Given the description of an element on the screen output the (x, y) to click on. 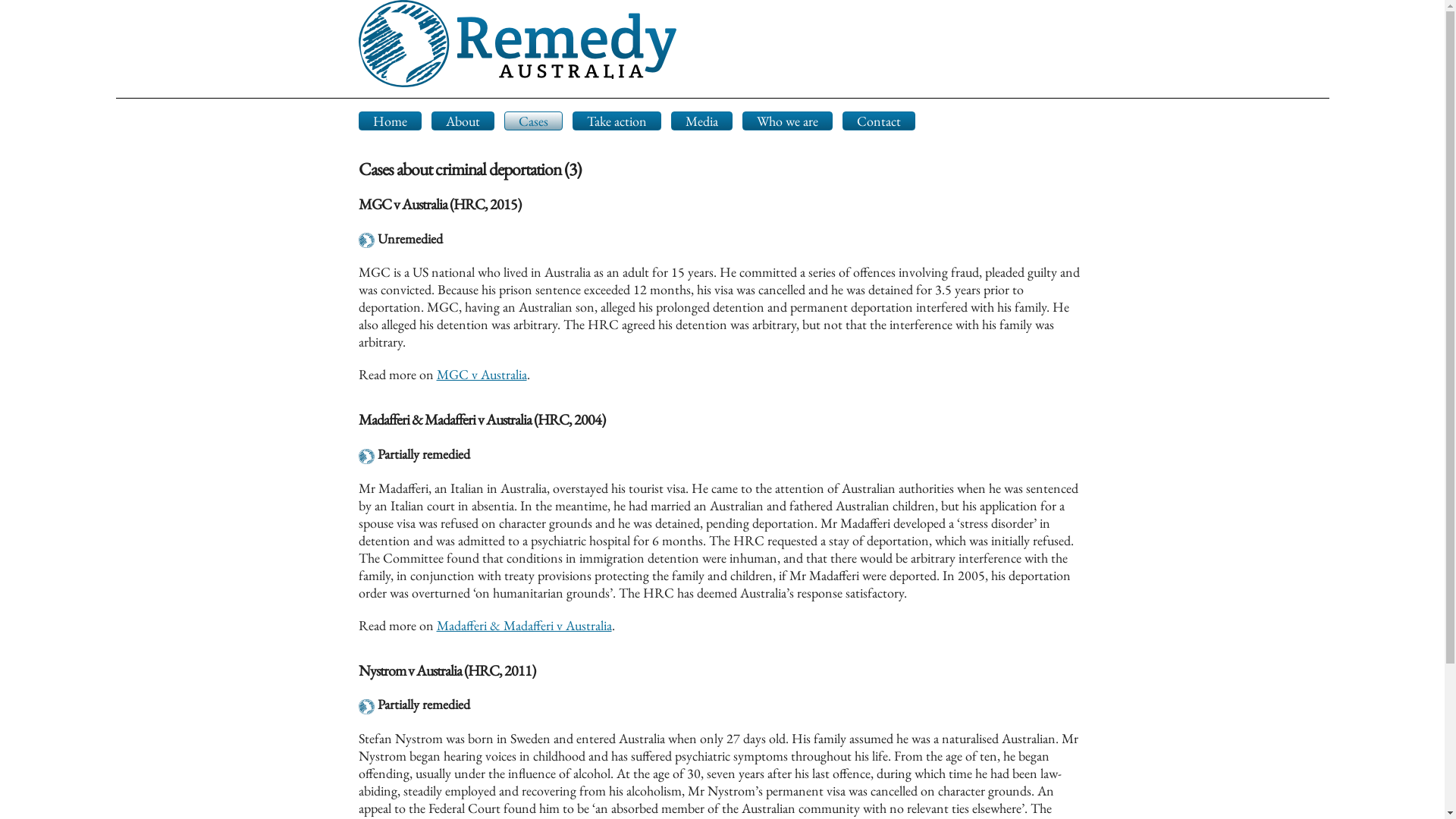
MGC v Australia Element type: text (481, 373)
About Element type: text (462, 120)
Who we are Element type: text (787, 120)
Cases Element type: text (533, 120)
Madafferi & Madafferi v Australia Element type: text (523, 624)
Home Element type: text (389, 120)
Contact Element type: text (878, 120)
Take action Element type: text (616, 120)
Media Element type: text (701, 120)
